Given the description of an element on the screen output the (x, y) to click on. 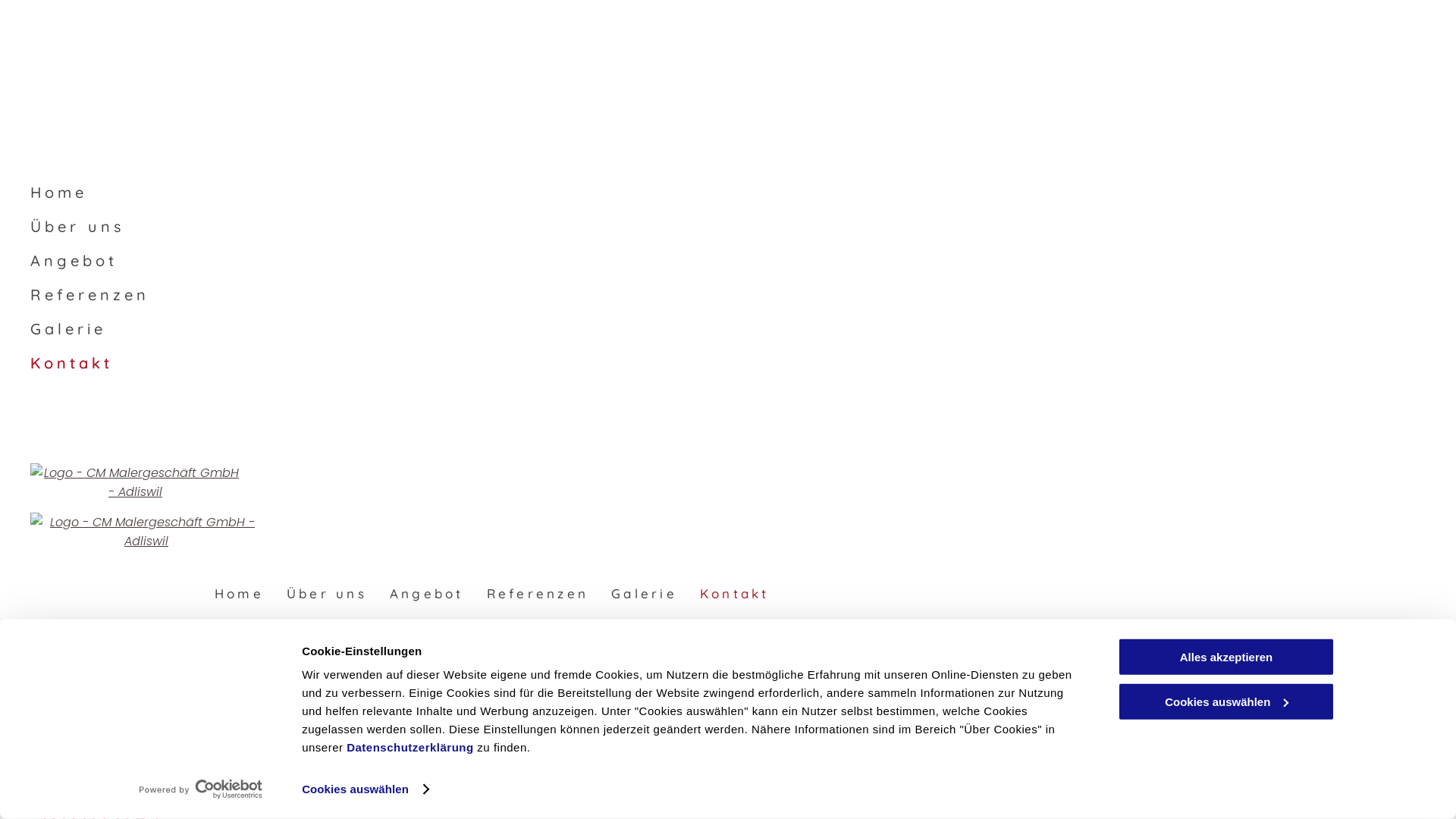
Galerie Element type: text (386, 324)
Alles akzeptieren Element type: text (1225, 656)
Referenzen Element type: text (386, 290)
Angebot Element type: text (426, 593)
Referenzen Element type: text (537, 593)
Kontakt Element type: text (386, 359)
Home Element type: text (386, 188)
Galerie Element type: text (644, 593)
Angebot Element type: text (386, 256)
Home Element type: text (238, 593)
Kontakt Element type: text (734, 593)
